Given the description of an element on the screen output the (x, y) to click on. 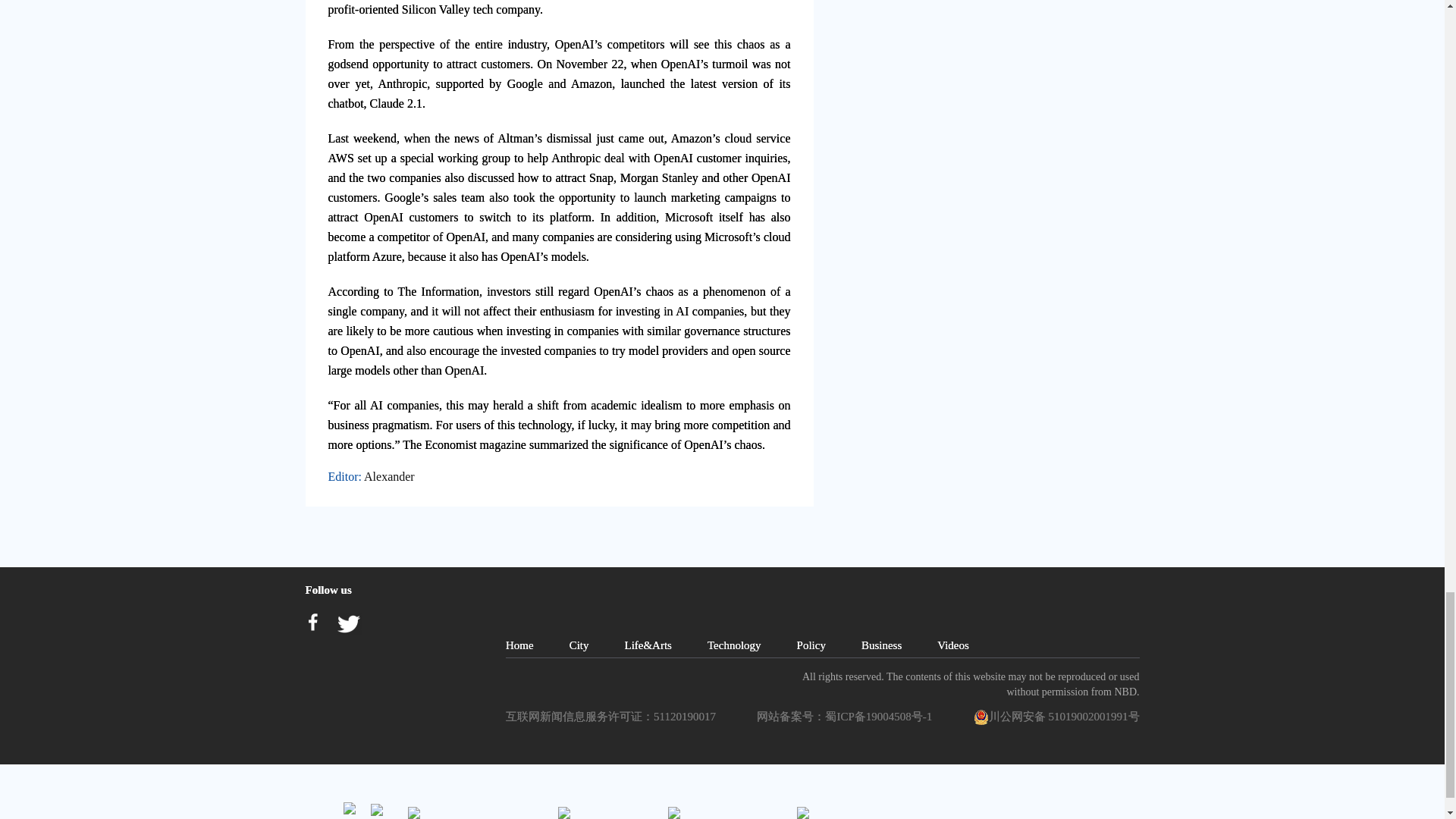
Home (519, 645)
Technology (734, 645)
Business (881, 645)
Videos (953, 645)
Policy (810, 645)
City (579, 645)
